Given the description of an element on the screen output the (x, y) to click on. 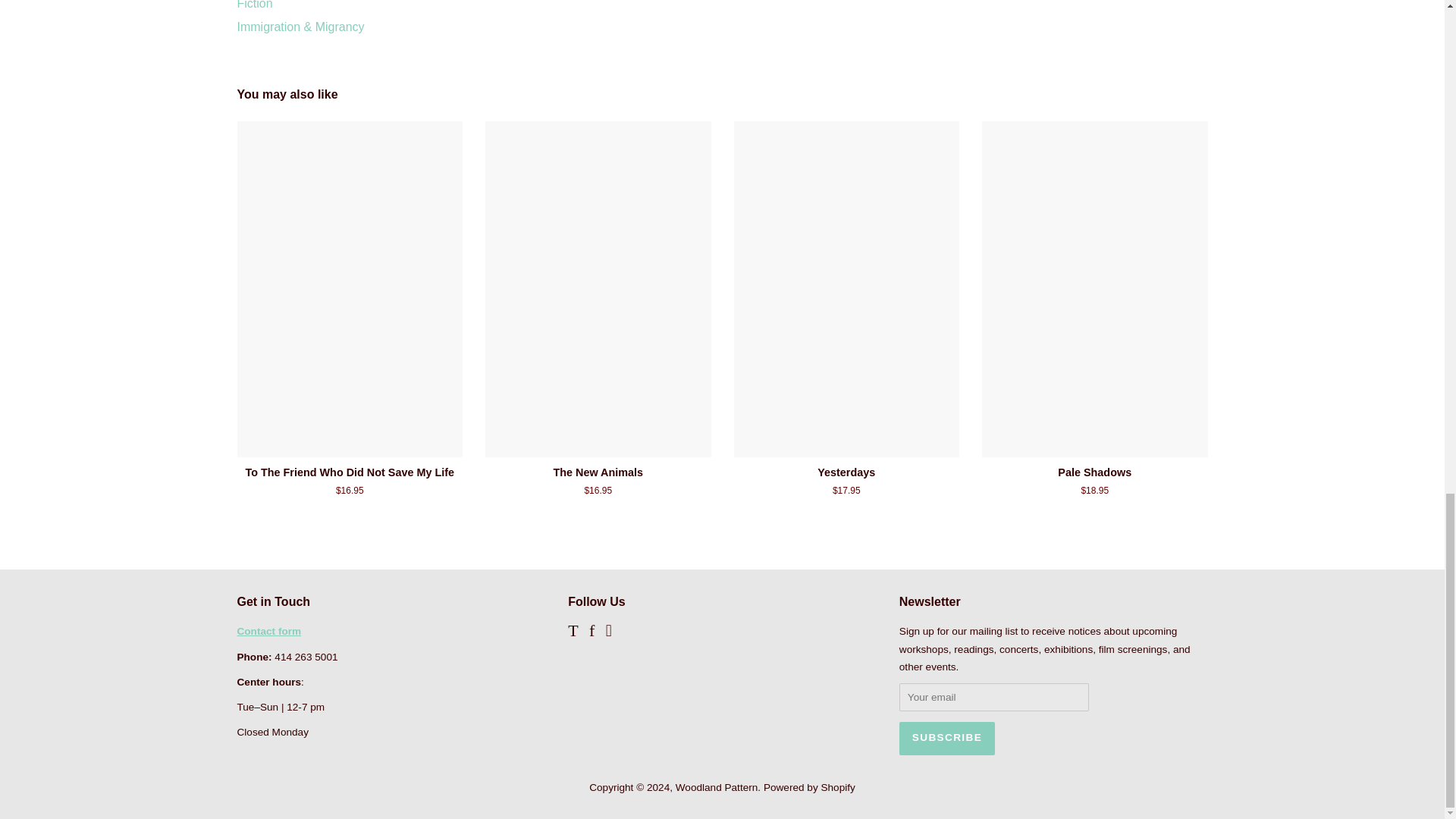
Woodland Pattern (716, 787)
Powered by Shopify (809, 787)
Subscribe (946, 738)
Subscribe (946, 738)
Contact form (268, 631)
Fiction (253, 4)
